Given the description of an element on the screen output the (x, y) to click on. 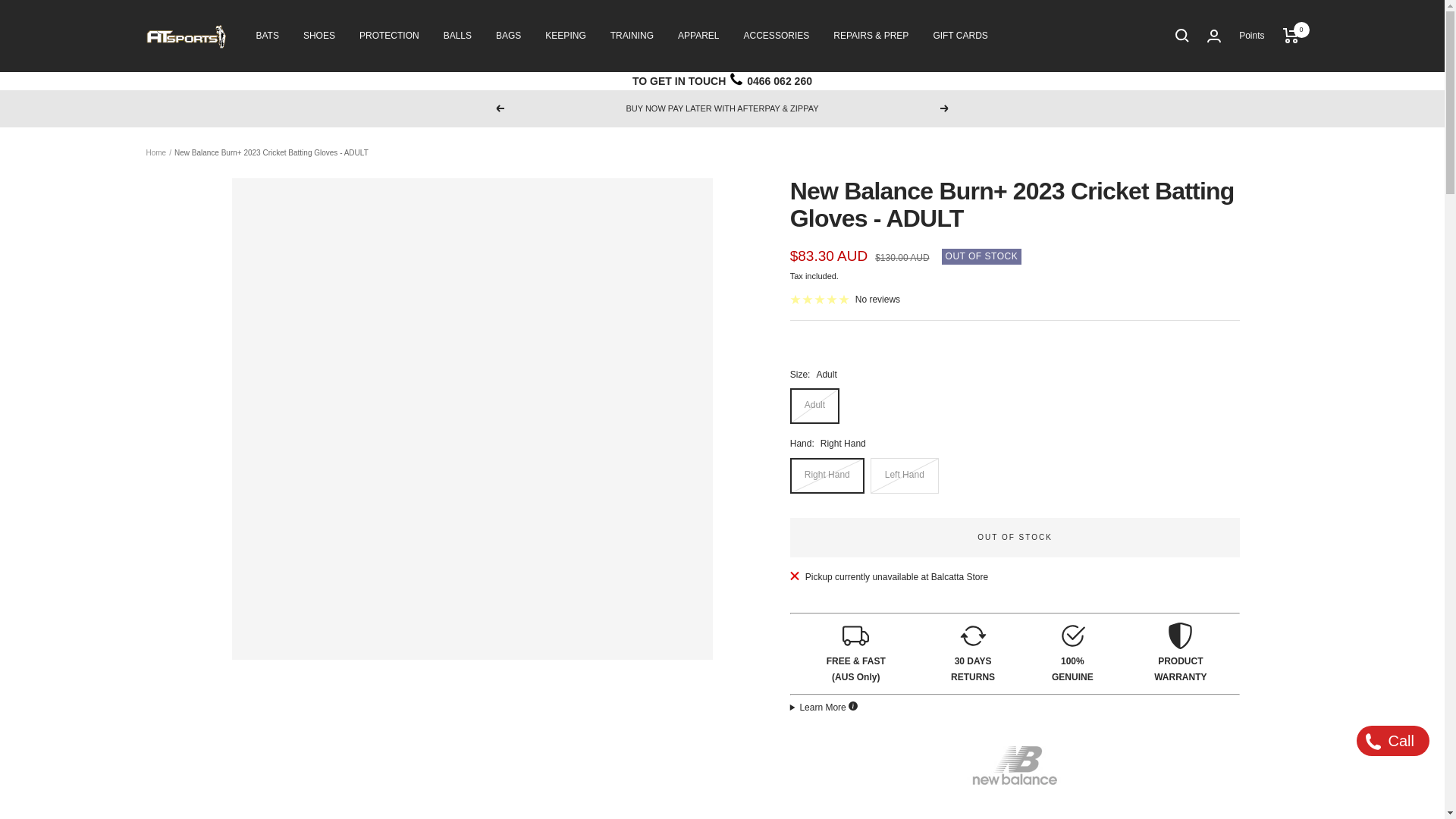
Next (944, 108)
ACCESSORIES (776, 35)
BATS (267, 35)
0 (1290, 35)
Previous (499, 108)
TO GET IN TOUCH 0466 062 260 (721, 80)
Home (155, 152)
BAGS (508, 35)
APPAREL (698, 35)
TRAINING (631, 35)
GIFT CARDS (960, 35)
KEEPING (564, 35)
AT Sports (185, 35)
